Given the description of an element on the screen output the (x, y) to click on. 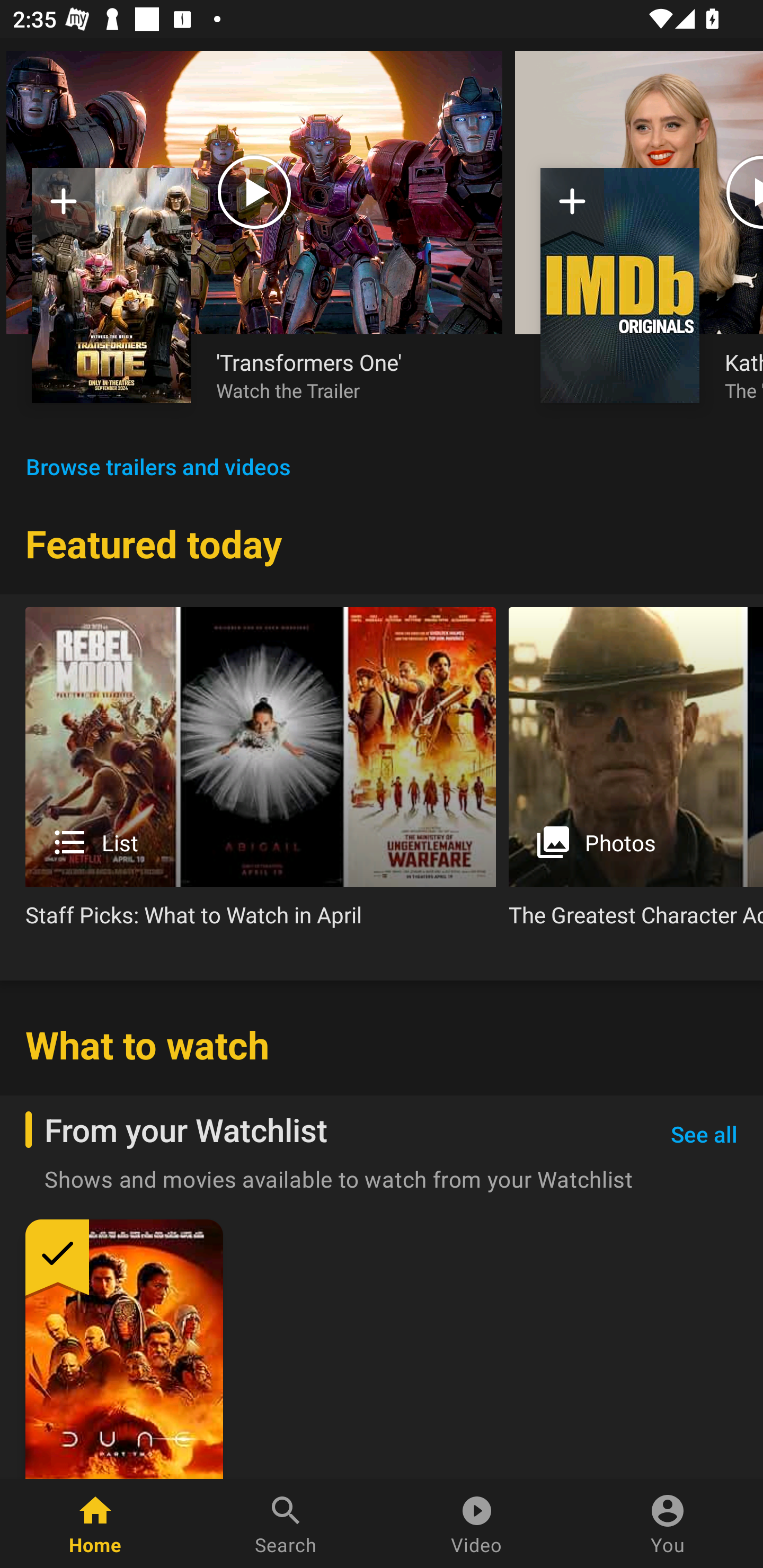
Not in watchlist (111, 284)
Not in watchlist (63, 207)
Not in watchlist (619, 284)
Not in watchlist (572, 207)
'Transformers One' Watch the Trailer (345, 374)
List Staff Picks: What to Watch in April (260, 774)
Photos The Greatest Character Actors of All Time (635, 774)
See all See all From your Watchlist (703, 1134)
Search (285, 1523)
Video (476, 1523)
You (667, 1523)
